Given the description of an element on the screen output the (x, y) to click on. 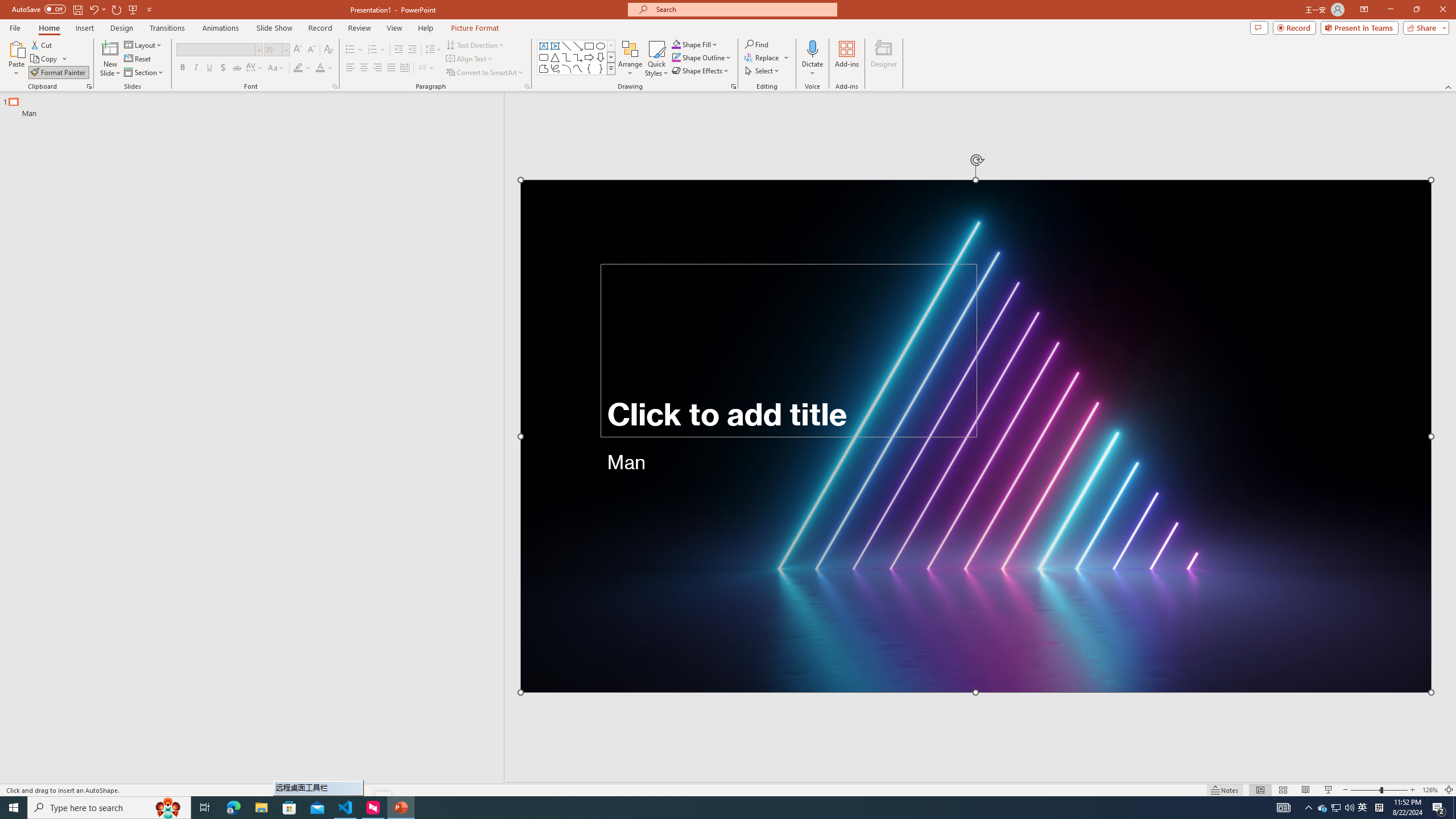
Connector: Elbow (566, 57)
Copy (49, 58)
Decrease Indent (398, 49)
Text Highlight Color (302, 67)
Arrange (630, 58)
Section (144, 72)
Line Spacing (433, 49)
Decrease Font Size (310, 49)
Underline (209, 67)
Format Painter (58, 72)
Arrow: Down (600, 57)
